Given the description of an element on the screen output the (x, y) to click on. 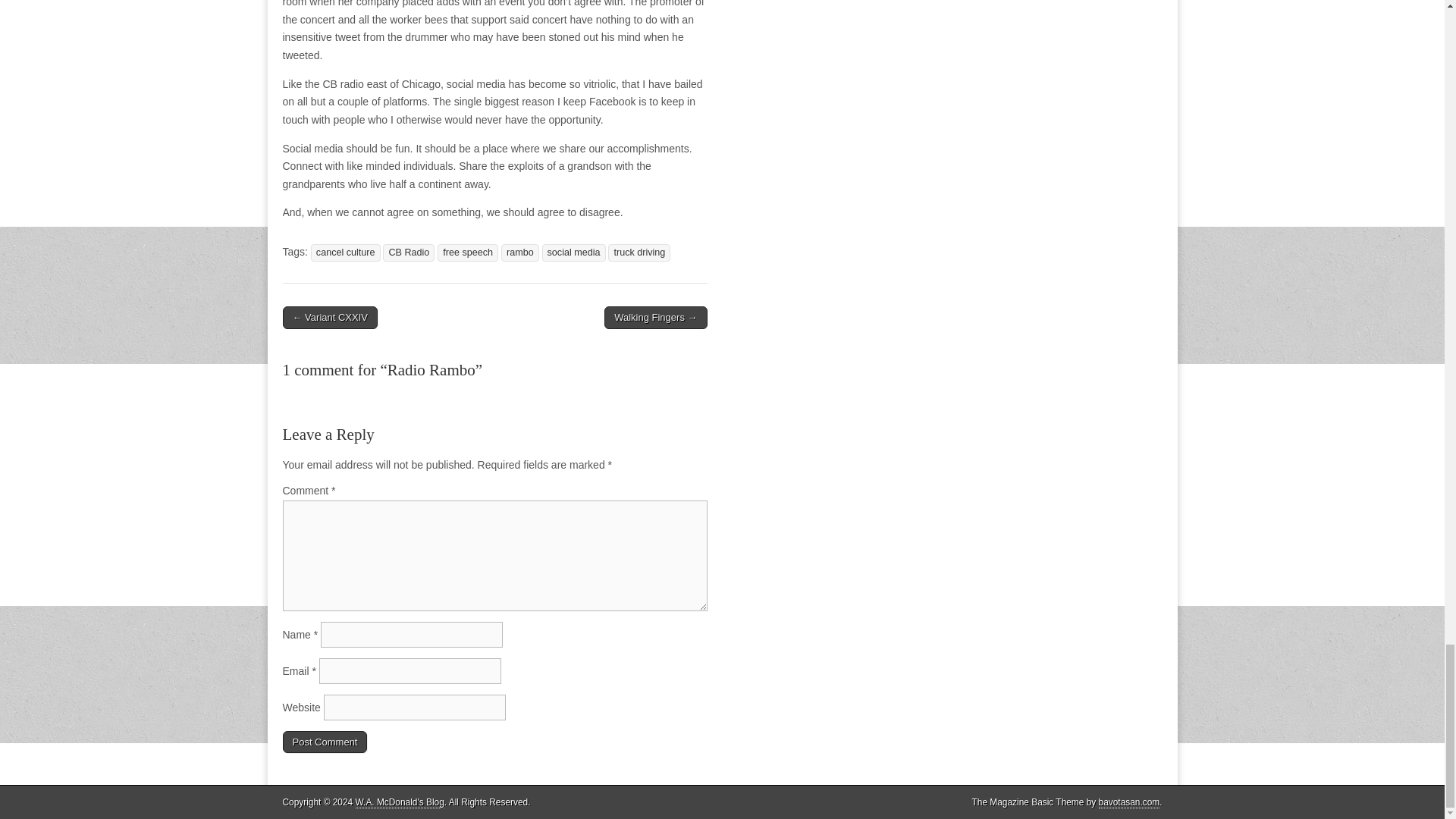
cancel culture (345, 252)
truck driving (638, 252)
free speech (467, 252)
social media (573, 252)
Post Comment (324, 742)
CB Radio (407, 252)
rambo (519, 252)
